Given the description of an element on the screen output the (x, y) to click on. 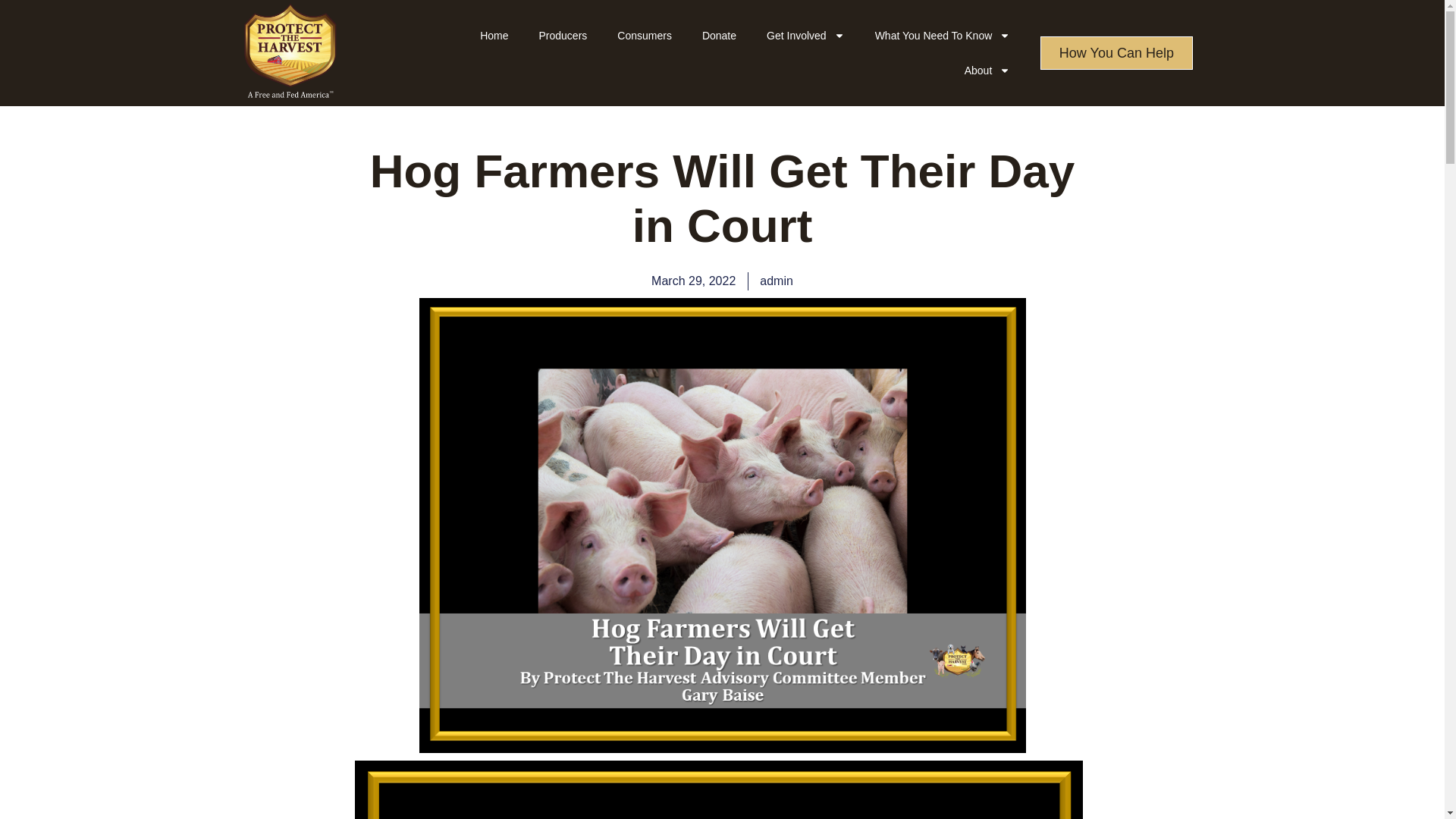
Producers (562, 35)
Get Involved (805, 35)
Home (493, 35)
Donate (719, 35)
Consumers (644, 35)
What You Need To Know (943, 35)
